Given the description of an element on the screen output the (x, y) to click on. 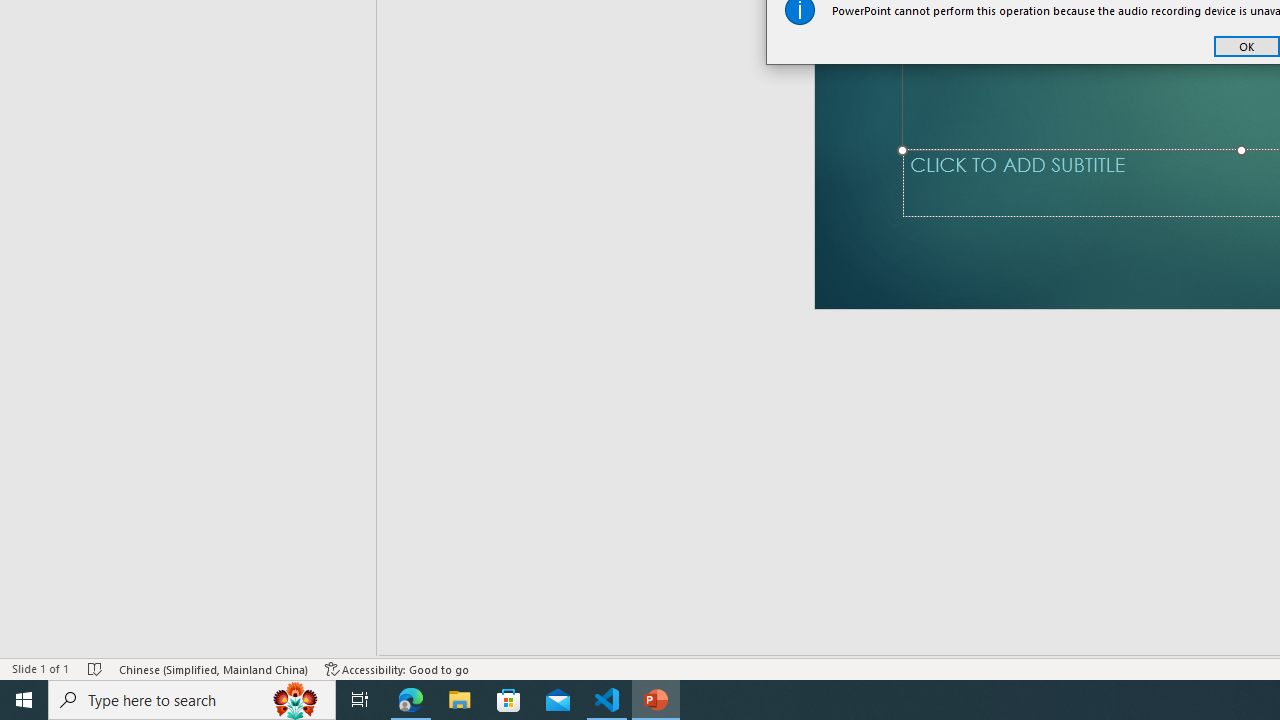
Search highlights icon opens search home window (295, 699)
Task View (359, 699)
PowerPoint - 1 running window (656, 699)
Microsoft Store (509, 699)
Accessibility Checker Accessibility: Good to go (397, 668)
Microsoft Edge - 1 running window (411, 699)
File Explorer (460, 699)
Visual Studio Code - 1 running window (607, 699)
Start (24, 699)
Spell Check No Errors (95, 668)
Type here to search (191, 699)
